Given the description of an element on the screen output the (x, y) to click on. 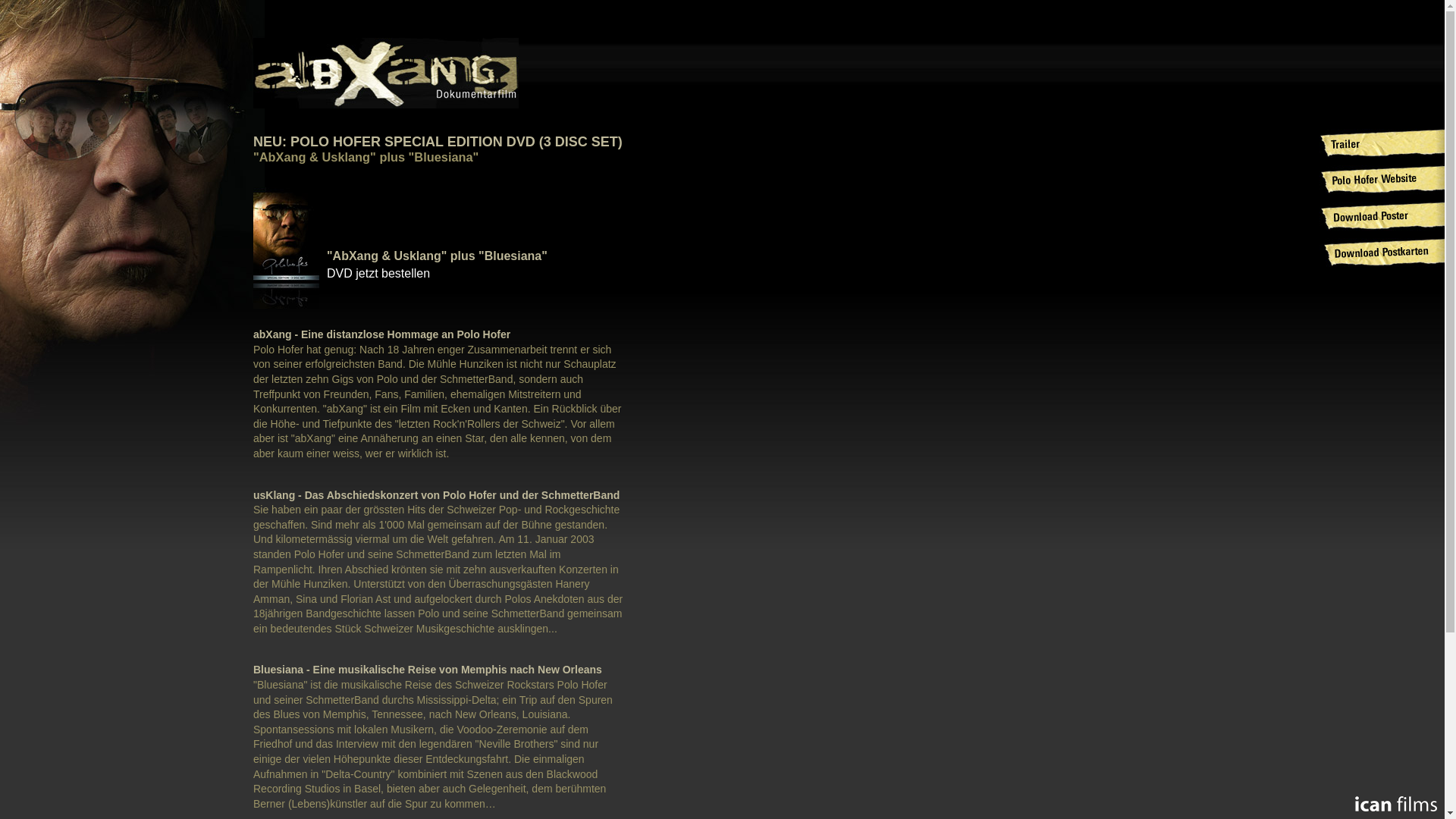
Ican Films Element type: text (1396, 803)
Download Postkarten Element type: text (1381, 252)
DVD jetzt bestellen Element type: text (377, 272)
Polo Hofer Website Element type: text (1381, 179)
Download Poster Element type: text (1381, 215)
Trailer Element type: text (1381, 142)
